Given the description of an element on the screen output the (x, y) to click on. 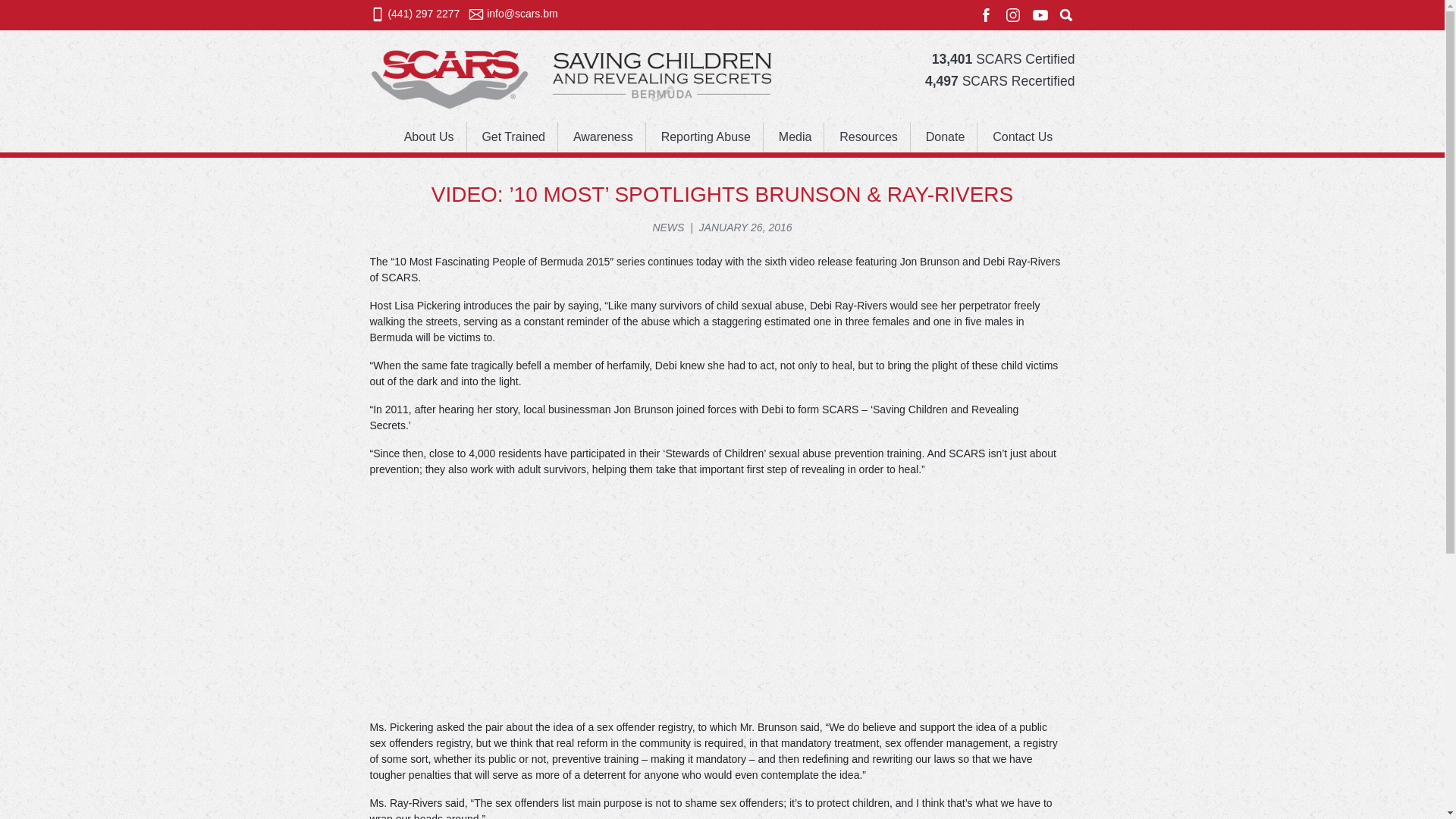
13,401 (951, 58)
Get Trained (512, 137)
Resources (867, 137)
Awareness (602, 137)
4,497 (941, 80)
Reporting Abuse (705, 137)
About Us (428, 137)
Media (795, 137)
